Given the description of an element on the screen output the (x, y) to click on. 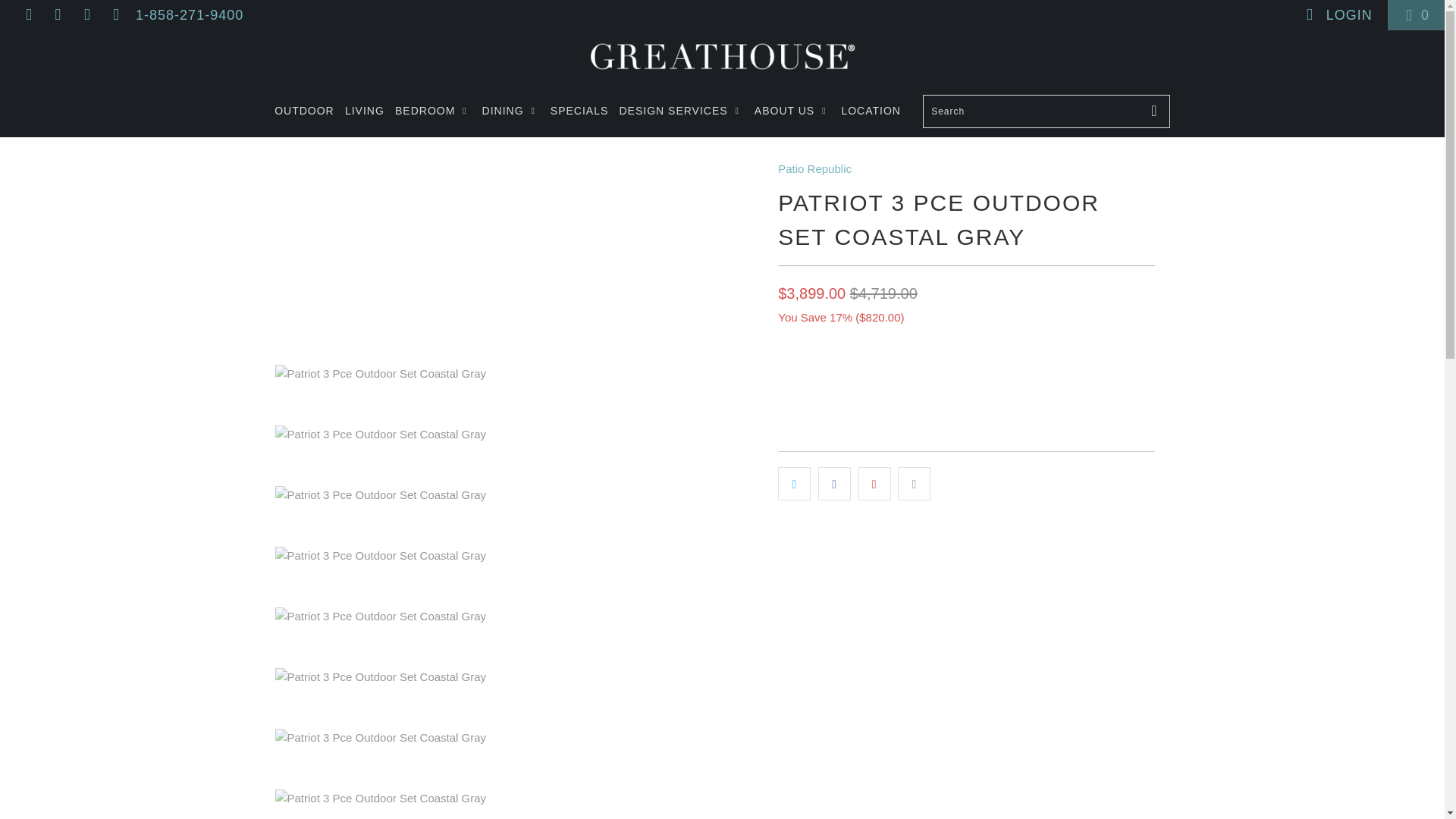
Share this on Facebook (834, 483)
Greathouse on Facebook (56, 14)
My Account  (1337, 15)
Share this on Pinterest (875, 483)
Greathouse on Pinterest (86, 14)
Greathouse on Twitter (27, 14)
Share this on Twitter (793, 483)
Patio Republic (814, 168)
Email this to a friend (914, 483)
Greathouse on Instagram (114, 14)
